Given the description of an element on the screen output the (x, y) to click on. 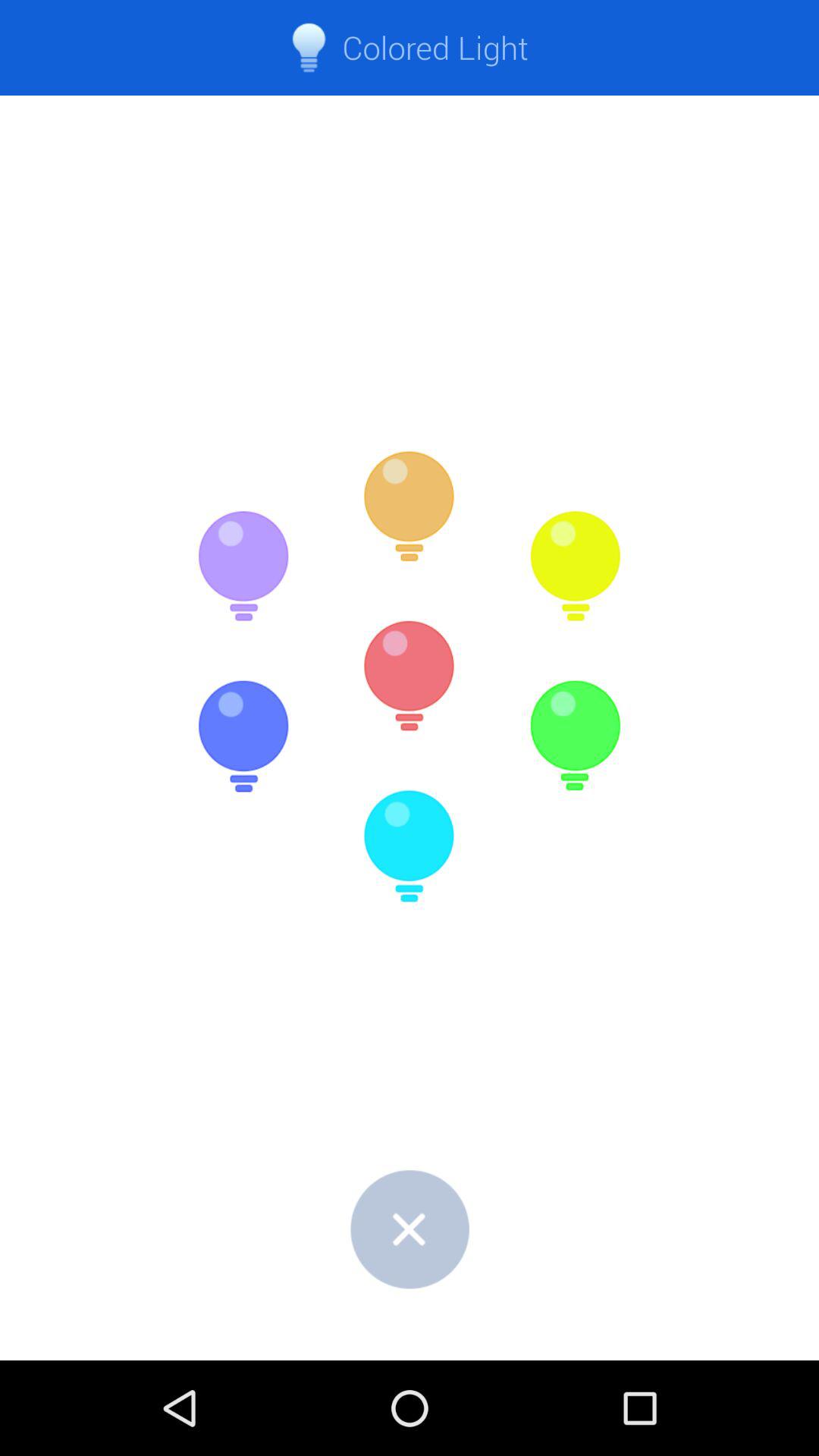
toggle orange light (409, 506)
